Given the description of an element on the screen output the (x, y) to click on. 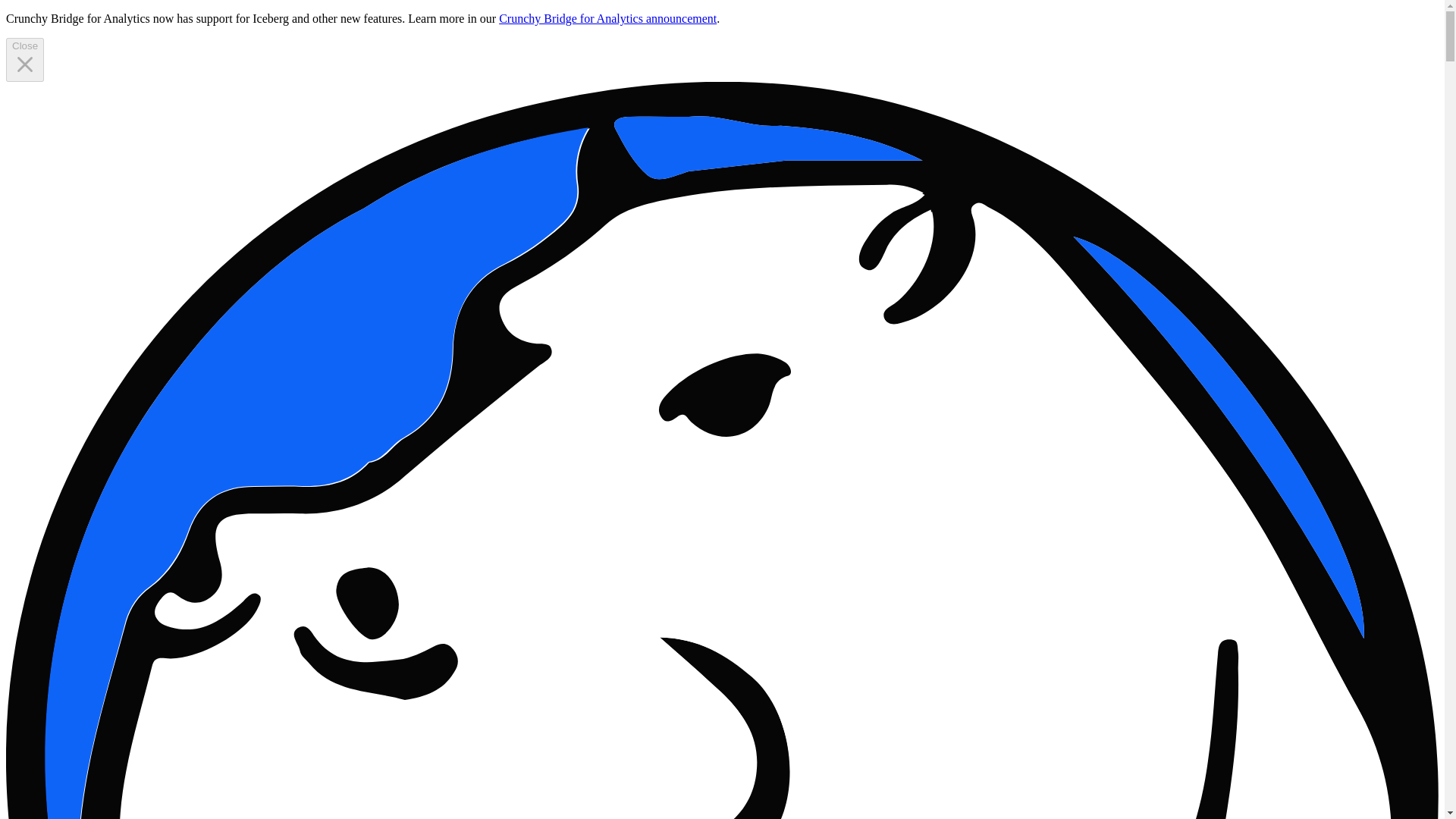
Close (24, 59)
Crunchy Bridge for Analytics announcement (607, 18)
